Given the description of an element on the screen output the (x, y) to click on. 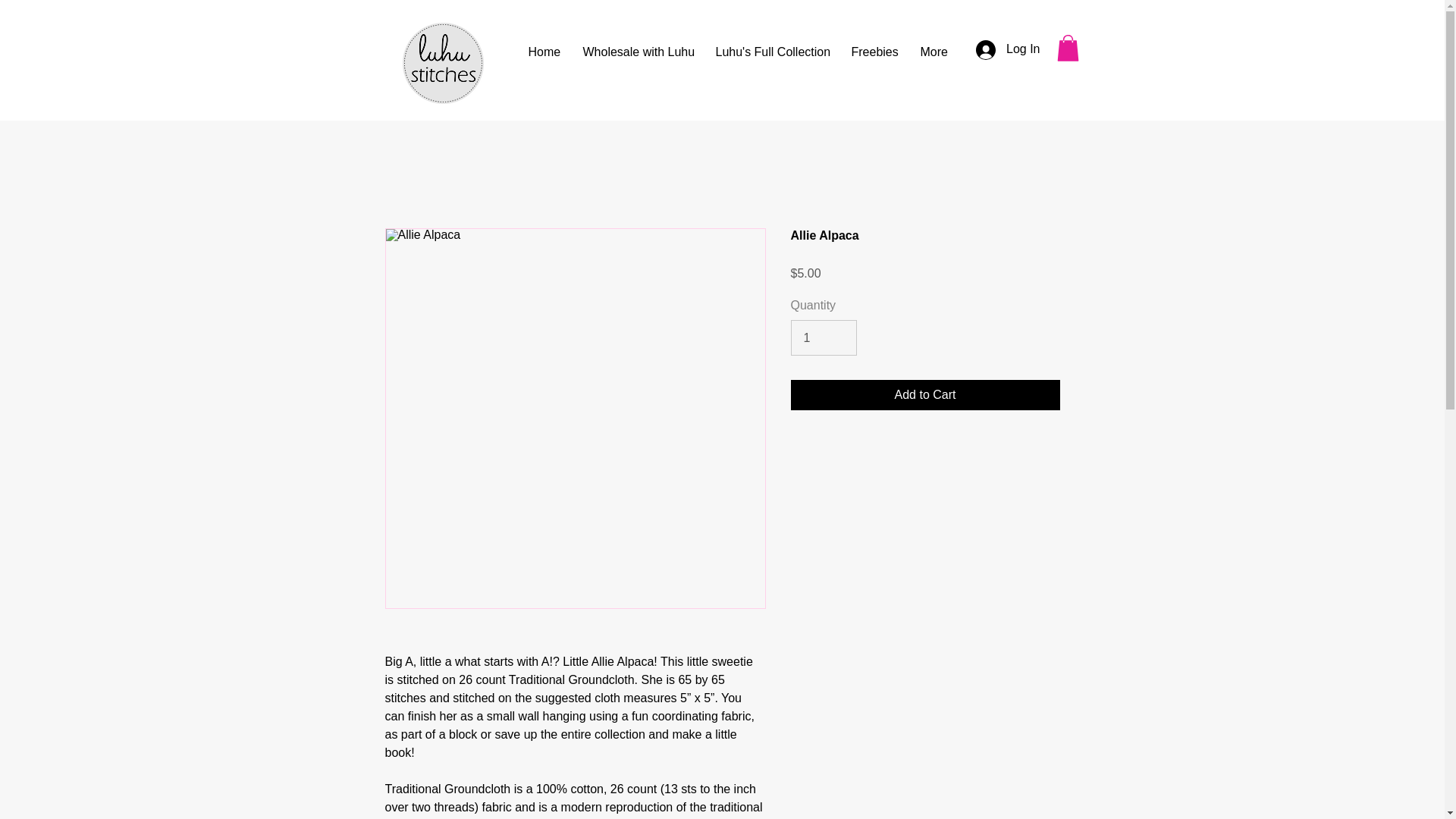
Luhu's Full Collection (771, 51)
Wholesale with Luhu (638, 51)
Add to Cart (924, 395)
Log In (1007, 49)
Home (544, 51)
1 (823, 337)
Freebies (874, 51)
